Given the description of an element on the screen output the (x, y) to click on. 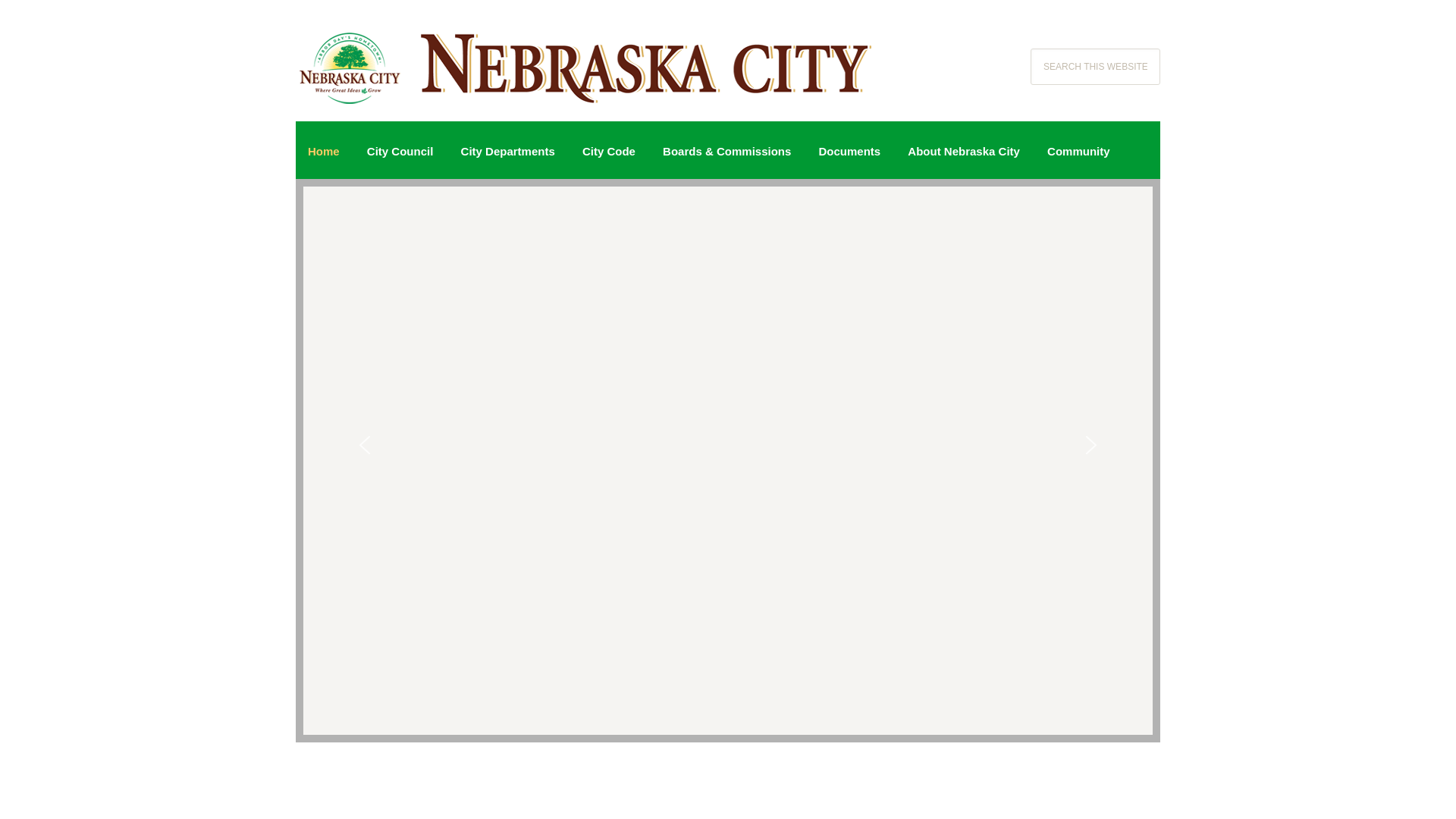
City Departments (507, 152)
Home (323, 152)
Nebraska City (585, 46)
About Nebraska City (963, 152)
Documents (849, 152)
City Council (400, 152)
City Code (608, 152)
